Given the description of an element on the screen output the (x, y) to click on. 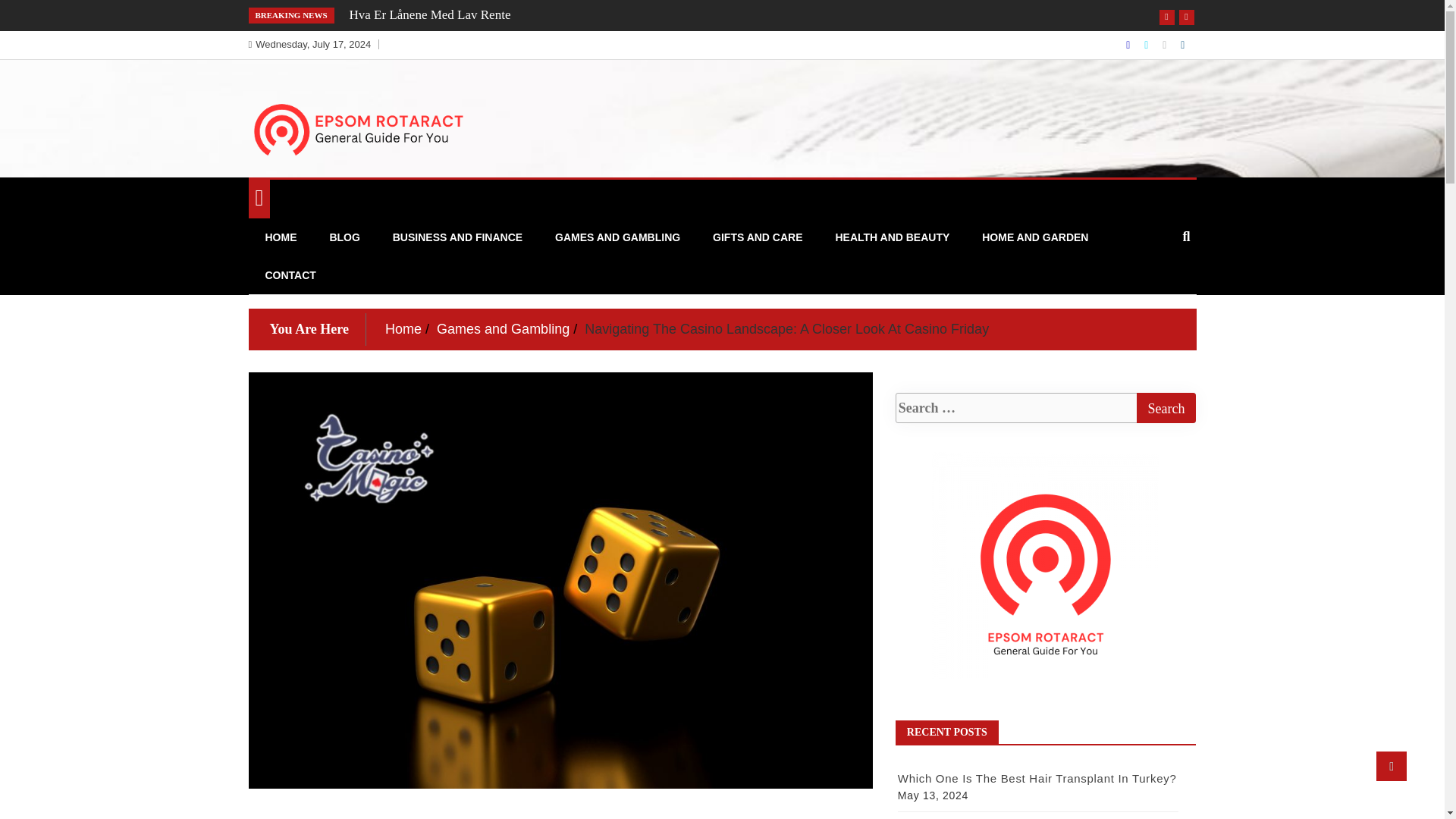
Epsom Rotaract (343, 179)
HOME (280, 237)
HEALTH AND BEAUTY (892, 237)
Search (1165, 408)
Search (1165, 408)
BLOG (344, 237)
HOME AND GARDEN (1035, 237)
BUSINESS AND FINANCE (457, 237)
Games and Gambling (502, 328)
GAMES AND GAMBLING (617, 237)
CONTACT (289, 275)
Home (403, 328)
GIFTS AND CARE (757, 237)
